Given the description of an element on the screen output the (x, y) to click on. 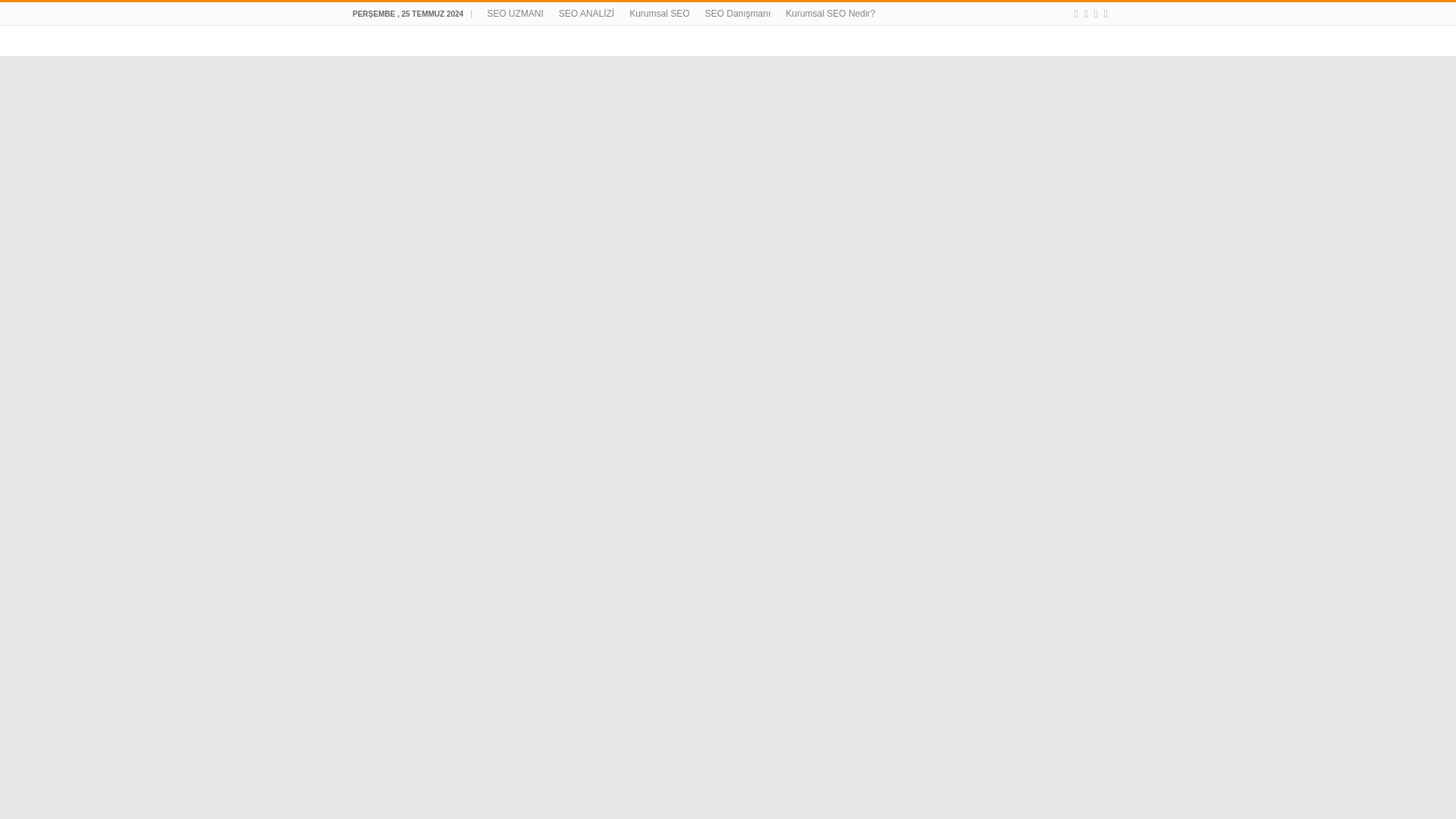
Rss (1074, 13)
Facebook (1096, 13)
Twitter (1105, 13)
SEO UZMANI (515, 13)
Kurumsal SEO Nedir? (829, 13)
Kurumsal SEO (659, 13)
